Given the description of an element on the screen output the (x, y) to click on. 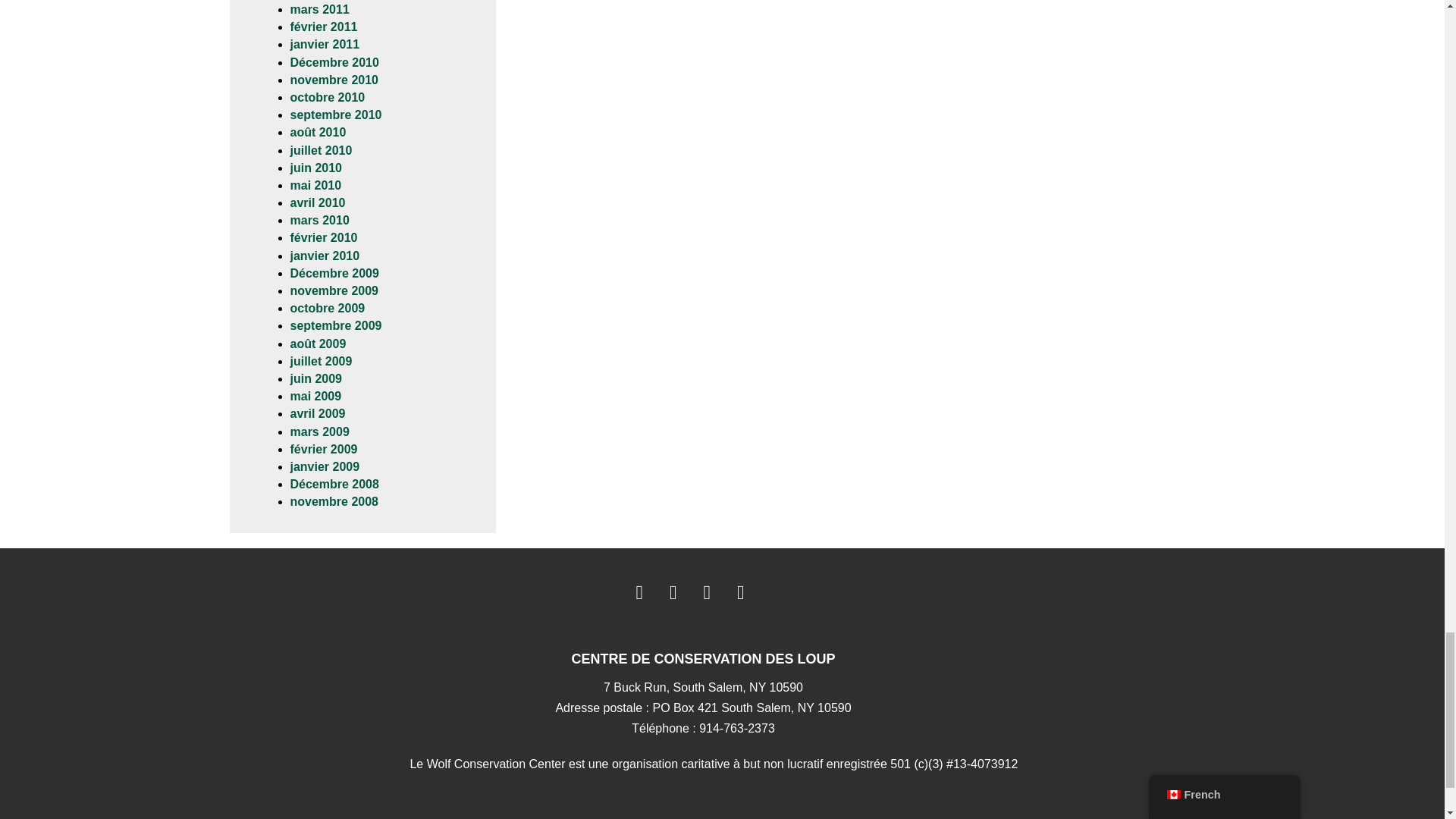
Facebook (638, 592)
Twitter (673, 592)
Youtube (707, 592)
